Given the description of an element on the screen output the (x, y) to click on. 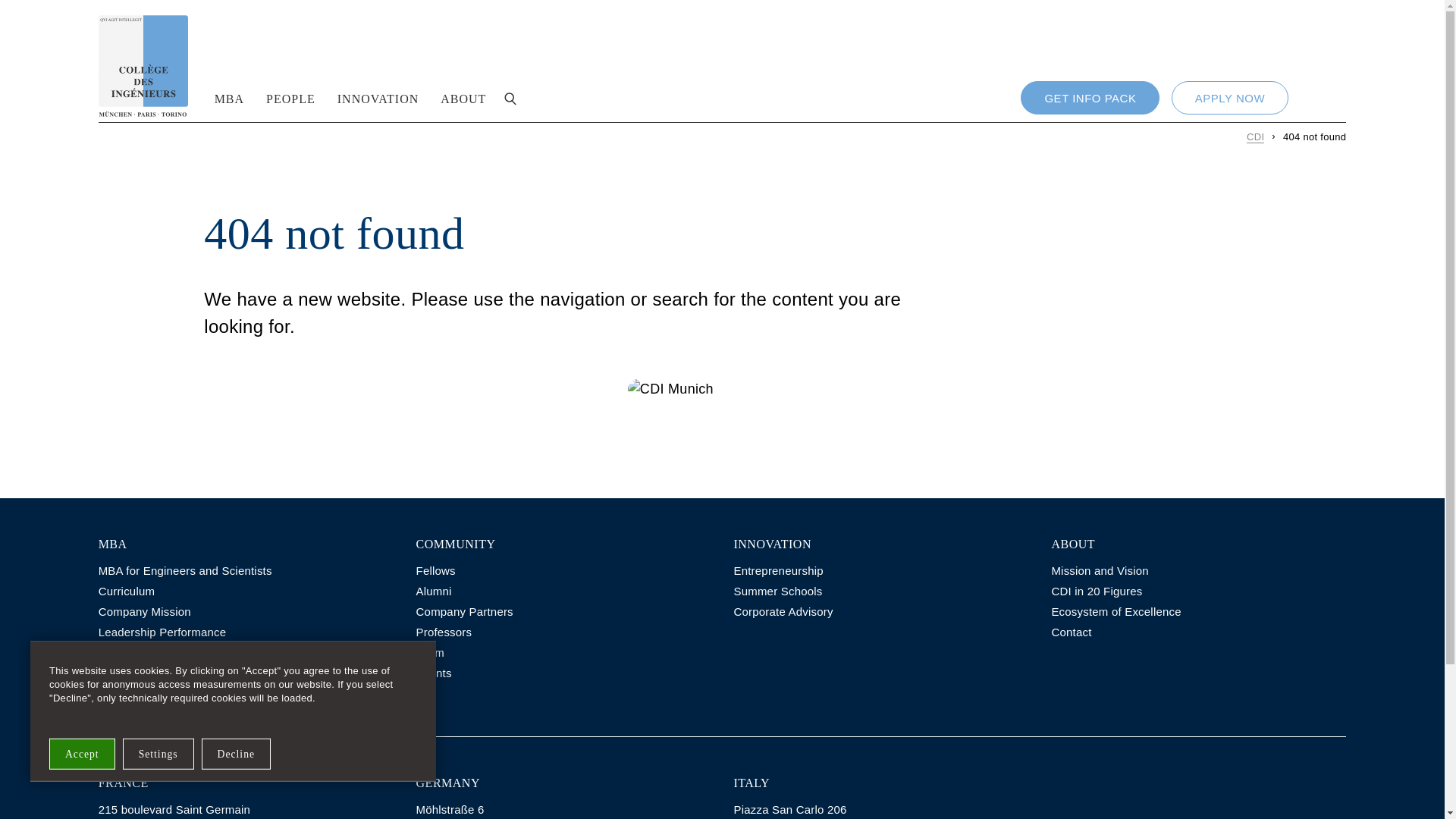
MBA (229, 99)
PEOPLE (290, 99)
